Given the description of an element on the screen output the (x, y) to click on. 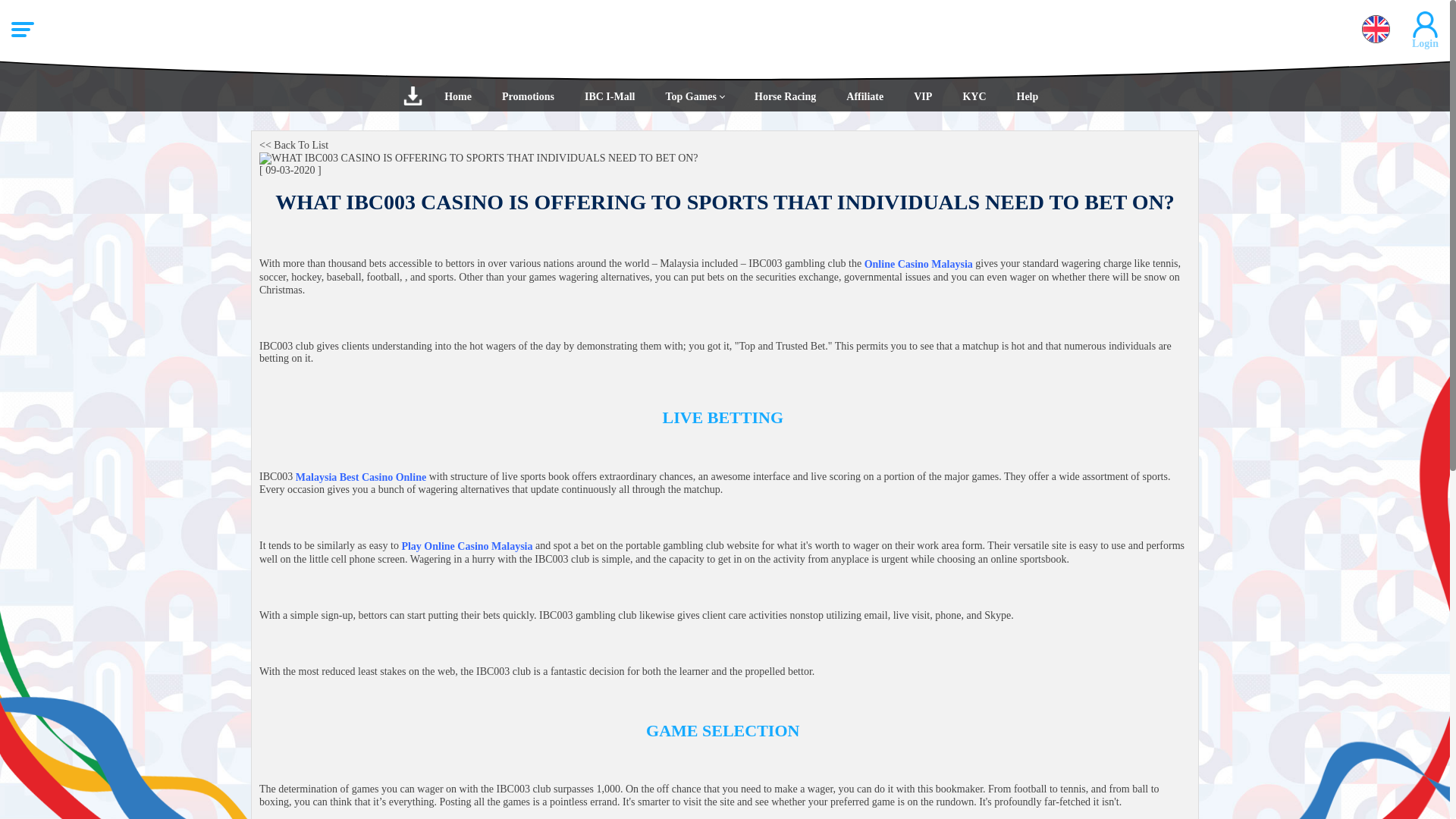
Horse Racing (785, 95)
IBC I-Mall (609, 95)
Affiliate (864, 95)
KYC (974, 95)
Top Games (694, 95)
VIP (922, 95)
Home (457, 95)
Promotions (527, 95)
Help (1026, 95)
Login (724, 214)
